Given the description of an element on the screen output the (x, y) to click on. 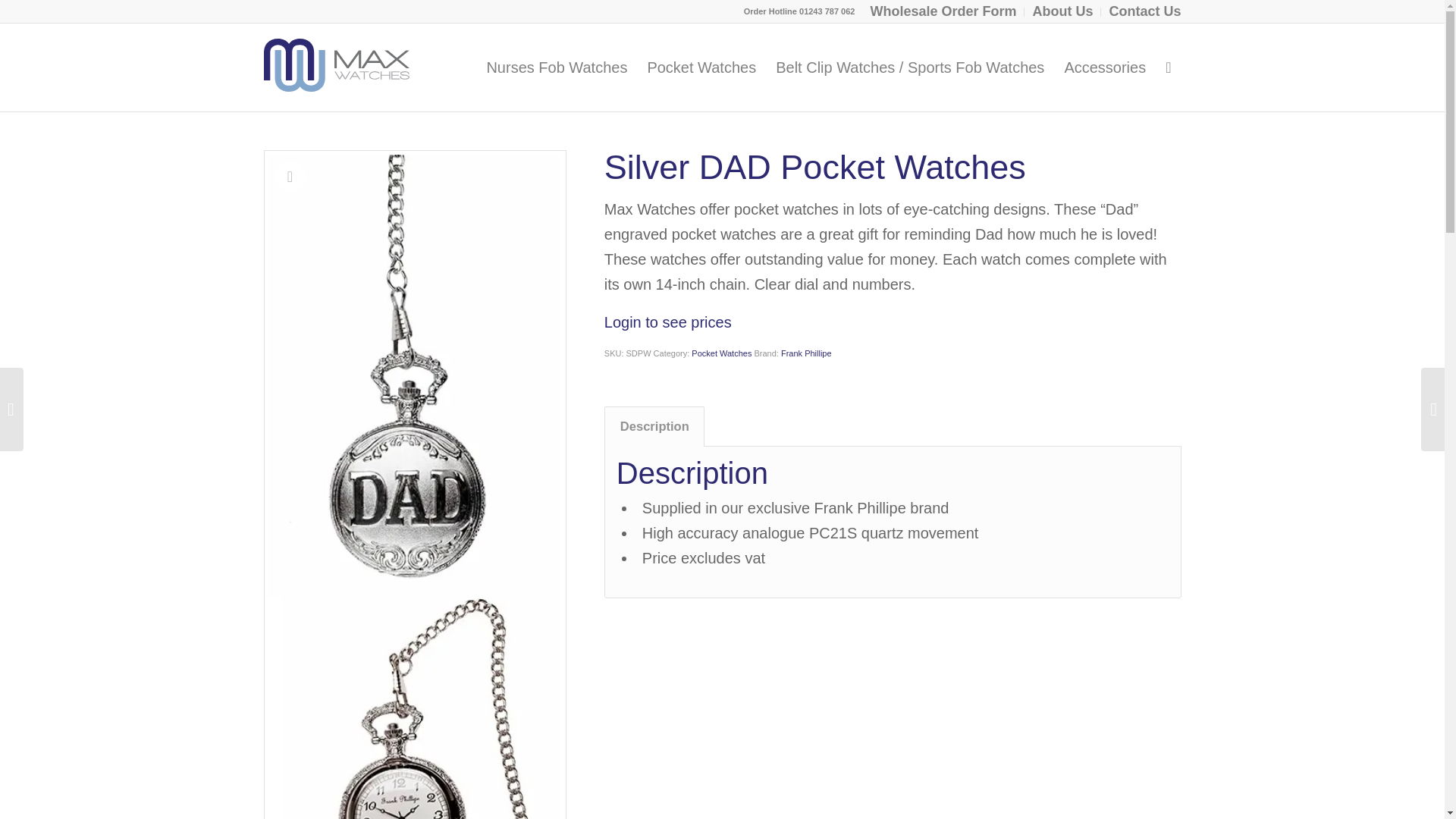
Pocket Watches (701, 67)
max watches logo (336, 64)
Nurses Fob Watches (556, 67)
Login to see prices (668, 321)
Frank Phillipe (805, 352)
Pocket Watches (721, 352)
Description (654, 426)
Contact Us (1144, 12)
Wholesale Order Form (942, 12)
About Us (1062, 12)
